Given the description of an element on the screen output the (x, y) to click on. 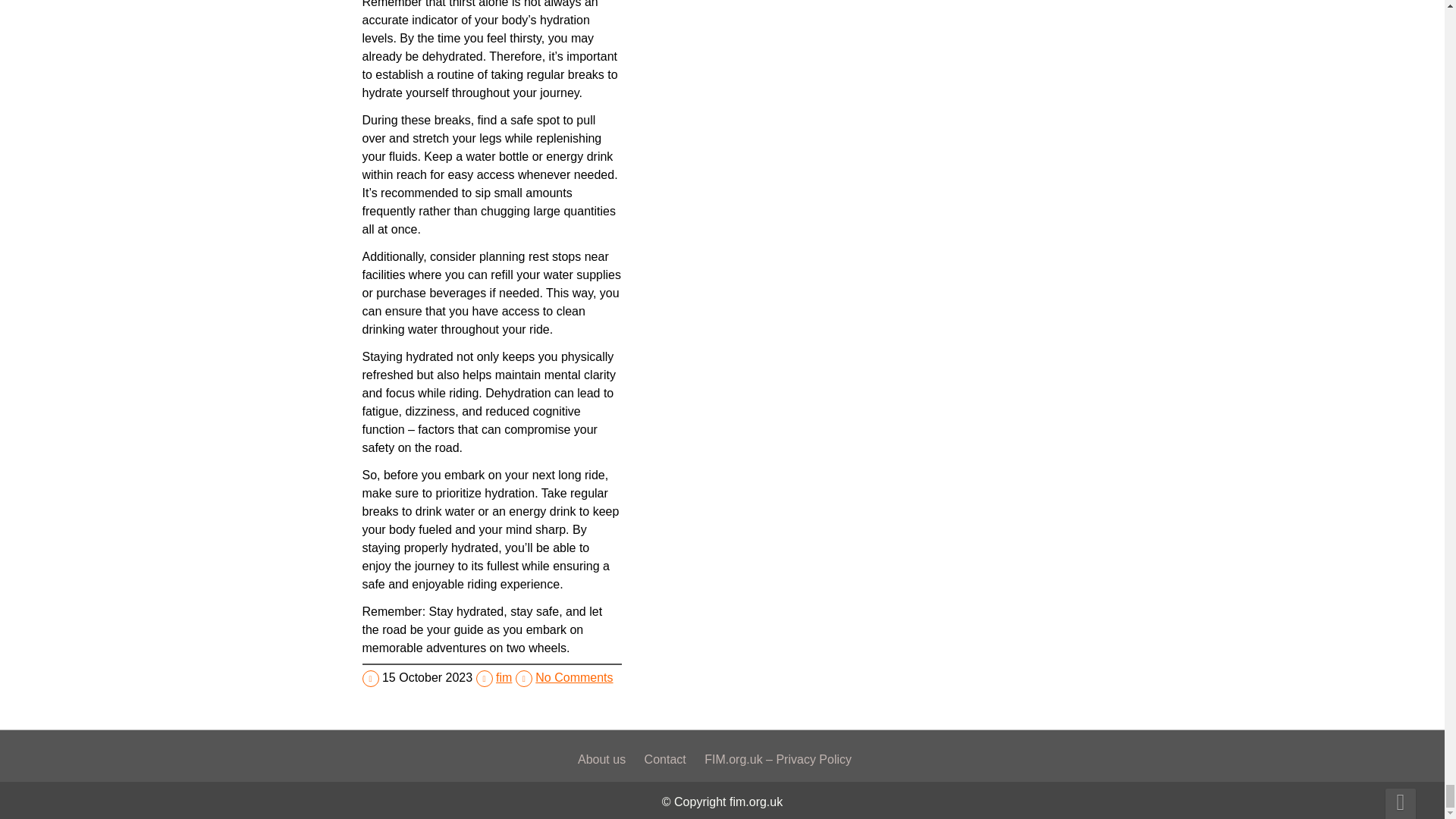
Posts by fim (504, 676)
